Given the description of an element on the screen output the (x, y) to click on. 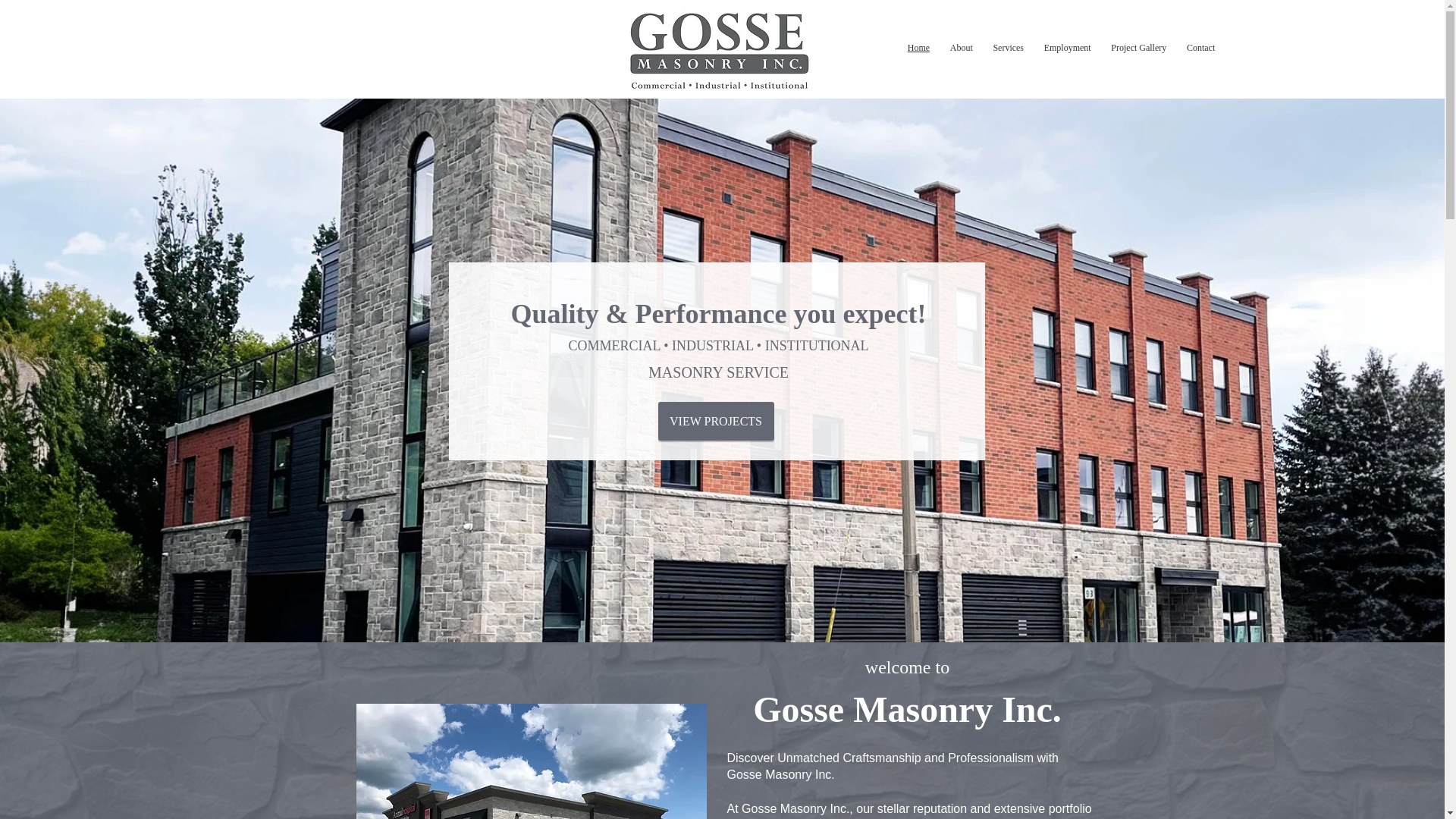
About (960, 47)
Project Gallery (1138, 47)
Services (1007, 47)
Contact (1200, 47)
Home (919, 47)
VIEW PROJECTS (716, 421)
Employment (1066, 47)
